Given the description of an element on the screen output the (x, y) to click on. 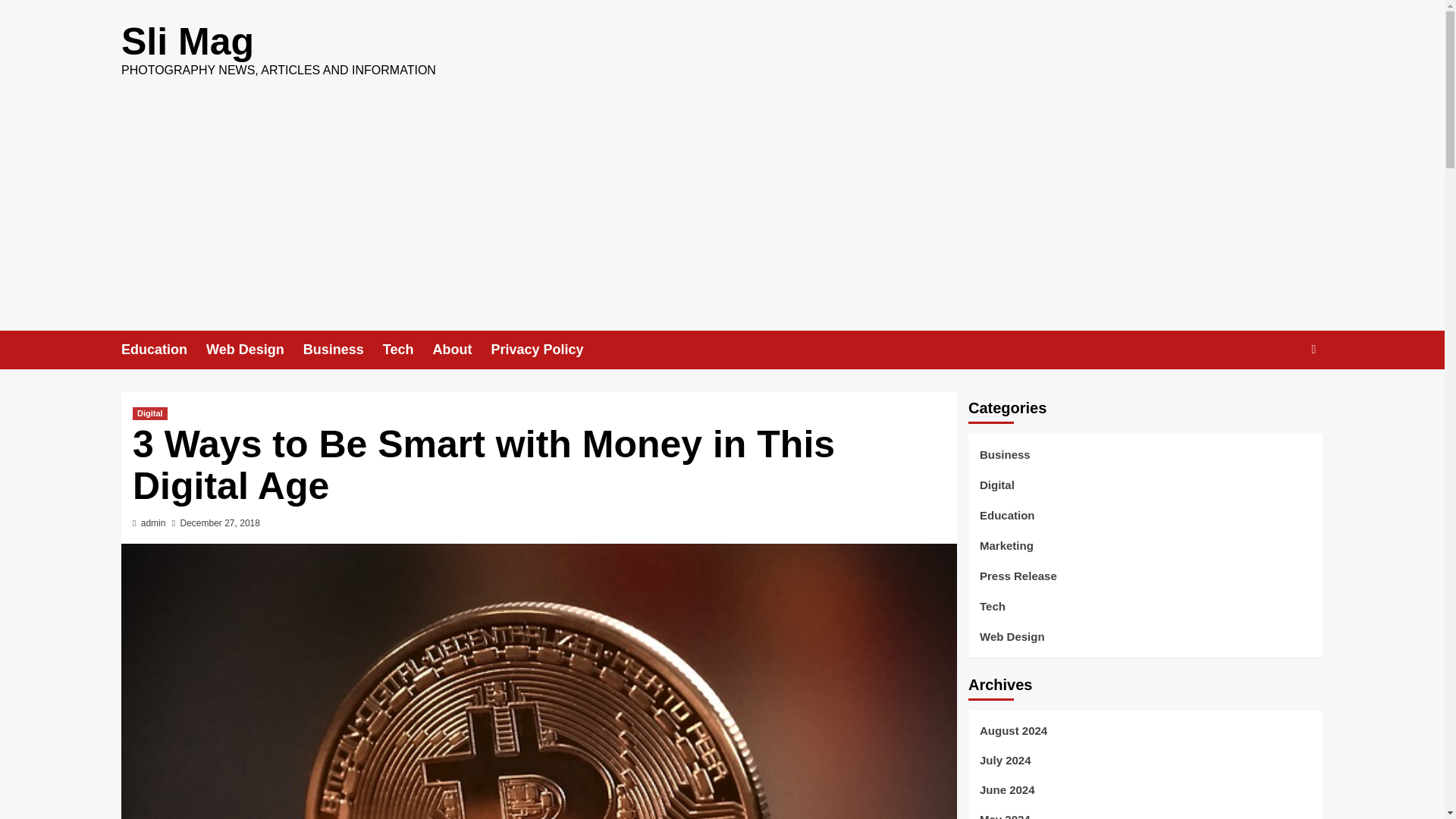
Business (342, 349)
Privacy Policy (546, 349)
Digital (149, 413)
Tech (407, 349)
Web Design (254, 349)
Education (1007, 521)
December 27, 2018 (220, 522)
Search (1278, 396)
Education (163, 349)
About (461, 349)
